Given the description of an element on the screen output the (x, y) to click on. 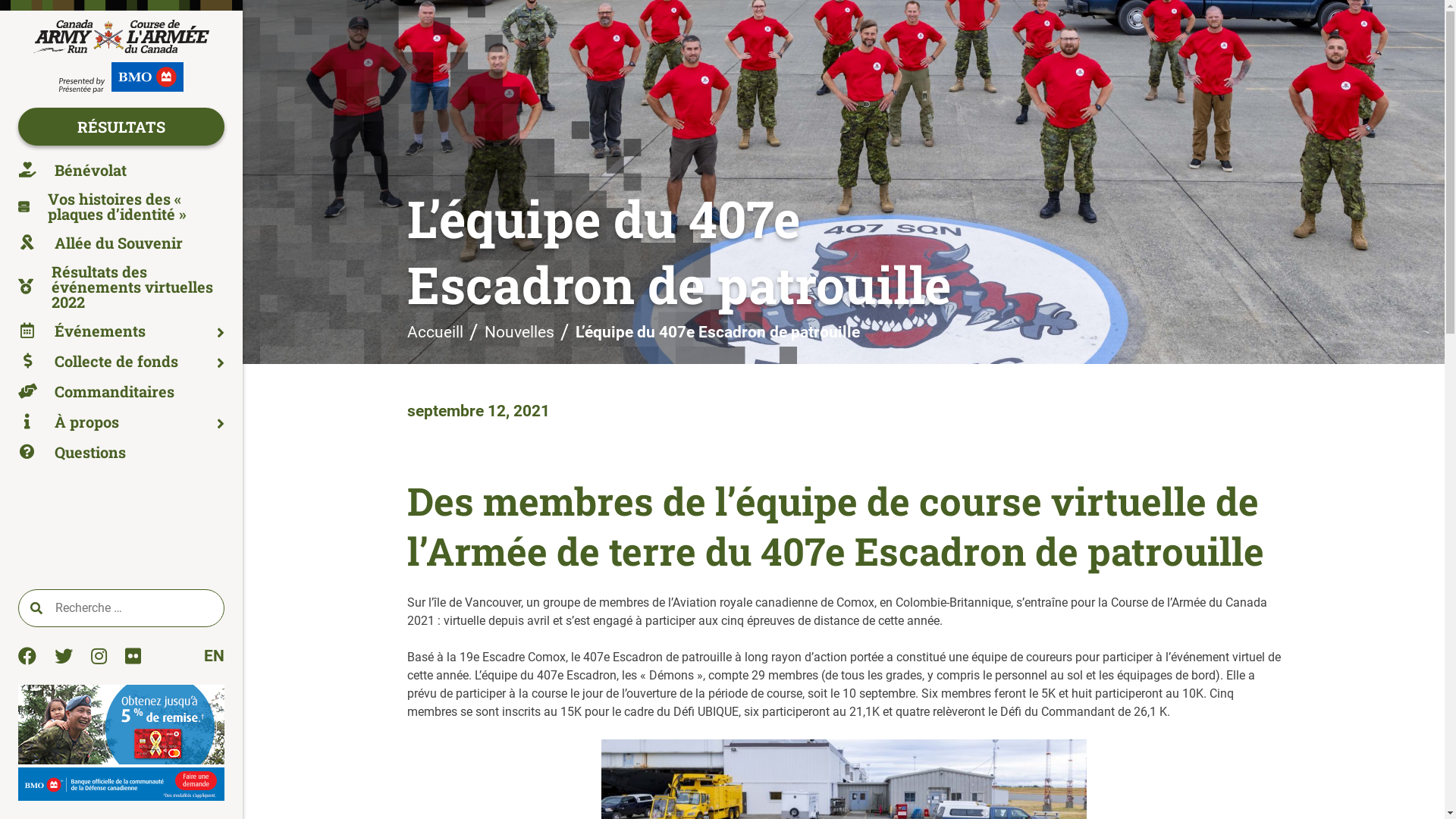
Expand child menu Element type: text (220, 362)
Facebook Element type: text (27, 655)
Nouvelles Element type: text (518, 331)
Commanditaires Element type: text (121, 391)
Skip to the content Element type: text (0, 0)
Accueill Element type: text (434, 331)
Instagram Element type: text (98, 655)
Collecte de fonds Element type: text (121, 360)
Twitter Element type: text (63, 655)
Flickr Element type: text (133, 655)
English Element type: hover (213, 655)
Expand child menu Element type: text (220, 332)
Questions Element type: text (121, 451)
Expand child menu Element type: text (220, 423)
SEARCH Element type: text (36, 607)
